Given the description of an element on the screen output the (x, y) to click on. 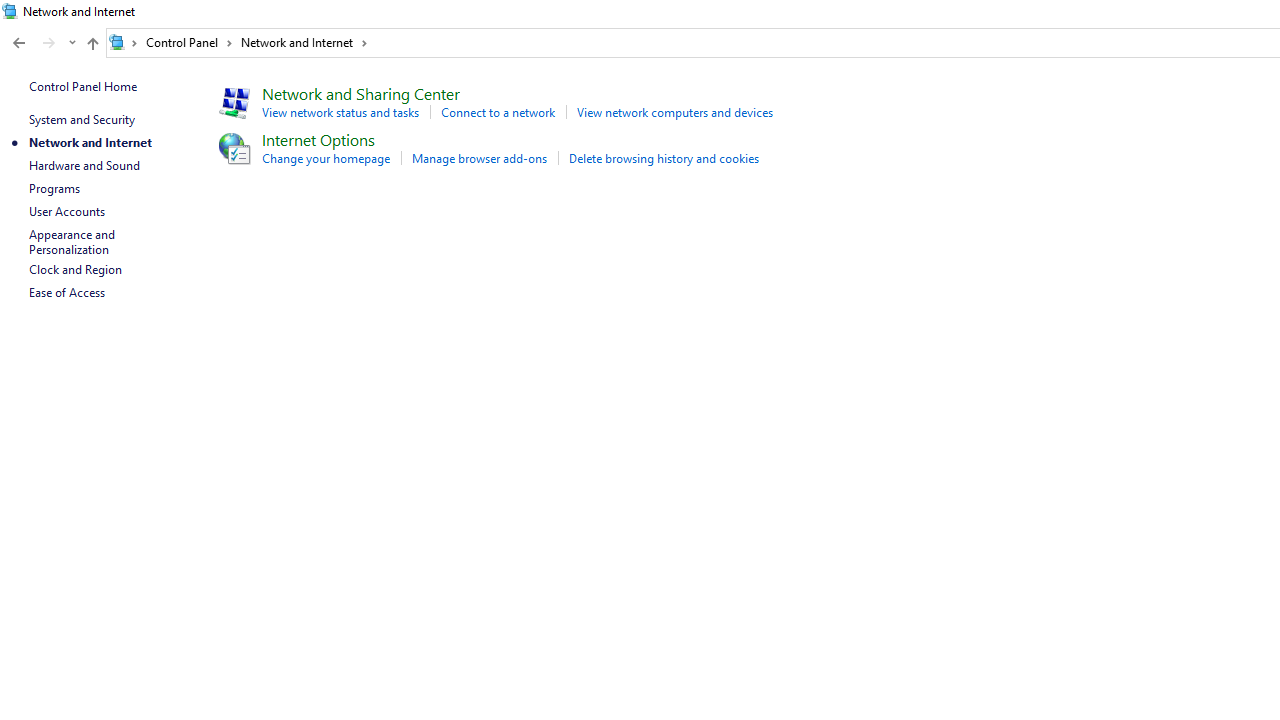
Network and Internet (304, 42)
All locations (124, 42)
Appearance and Personalization (73, 241)
Control Panel Home (82, 86)
Forward (Alt + Right Arrow) (49, 43)
Delete browsing history and cookies (664, 158)
Up to "Control Panel" (Alt + Up Arrow) (92, 43)
User Accounts (66, 210)
System and Security (81, 119)
Control Panel (189, 42)
View network status and tasks (340, 112)
View network computers and devices (674, 112)
Ease of Access (66, 292)
